Given the description of an element on the screen output the (x, y) to click on. 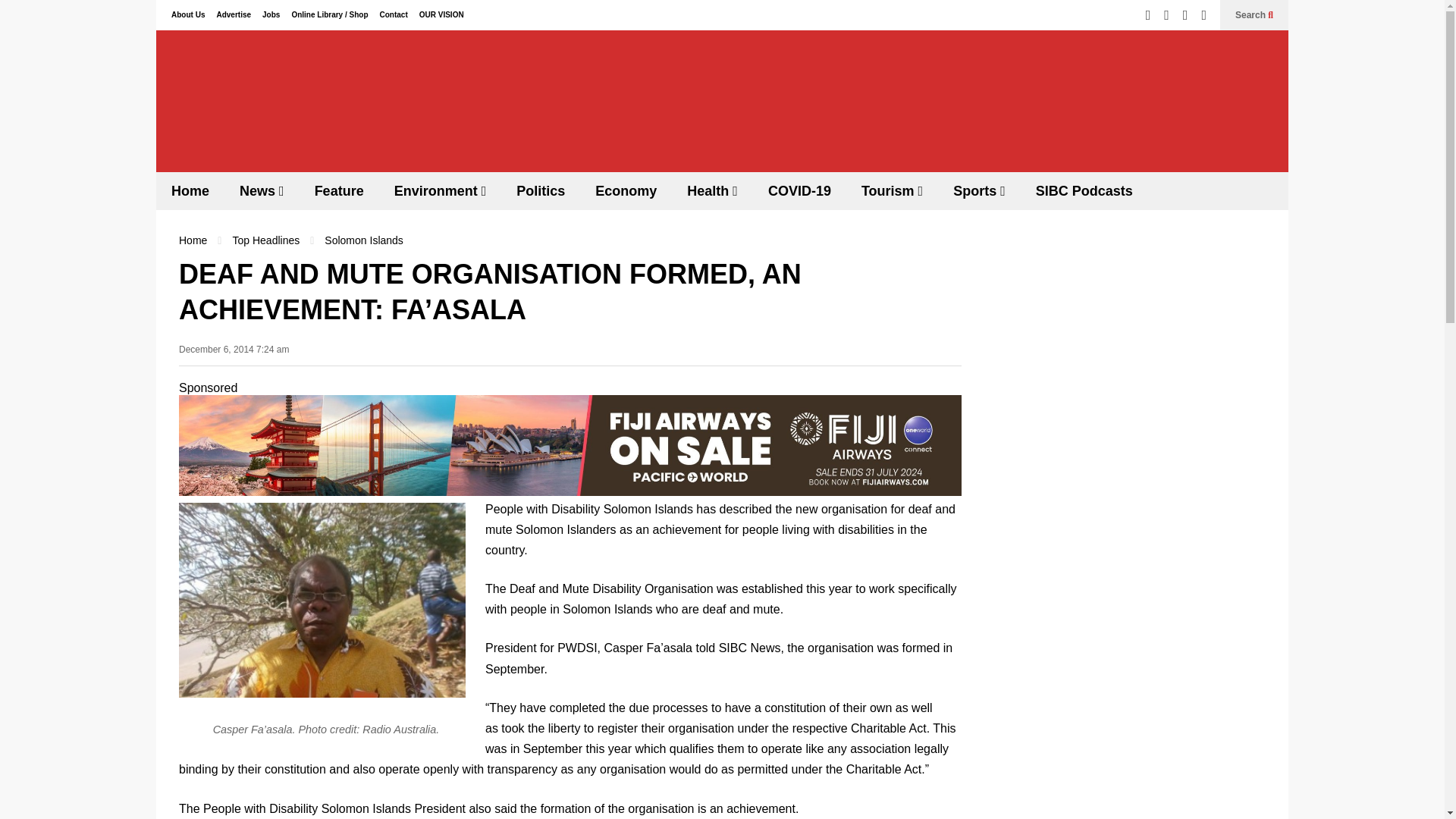
COVID-19 (798, 190)
SIBC Podcasts (1084, 190)
Tourism (891, 190)
Home (189, 190)
Search (1253, 15)
Sports (978, 190)
Advertise (232, 14)
Feature (338, 190)
Jobs (270, 14)
News (261, 190)
Economy (625, 190)
Health (711, 190)
About Us (188, 14)
Contact (392, 14)
Environment (440, 190)
